Given the description of an element on the screen output the (x, y) to click on. 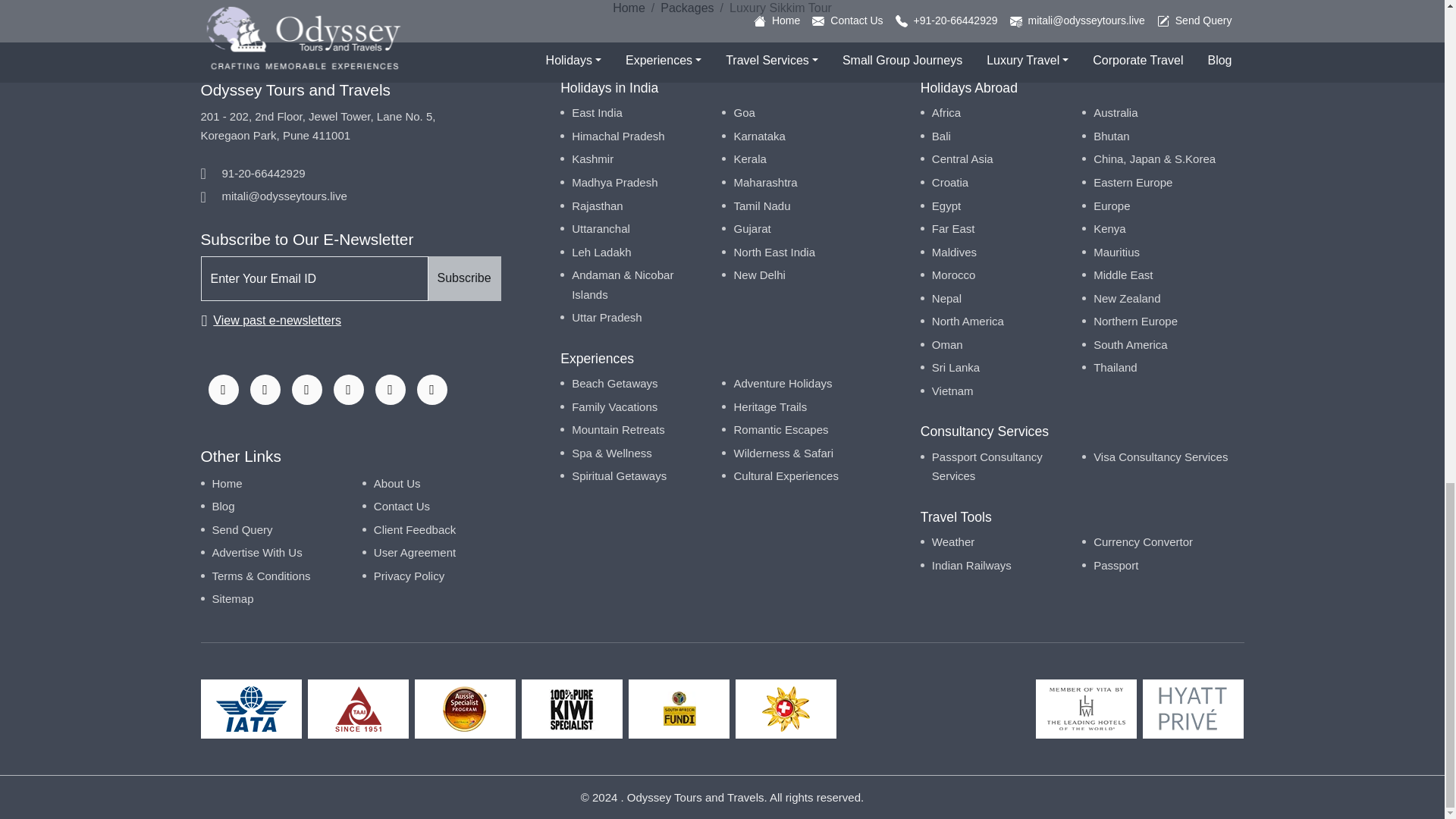
Join us on facebook (223, 389)
Join us on twitter (306, 389)
Subscribe (464, 278)
Join us on instagram (265, 389)
